Given the description of an element on the screen output the (x, y) to click on. 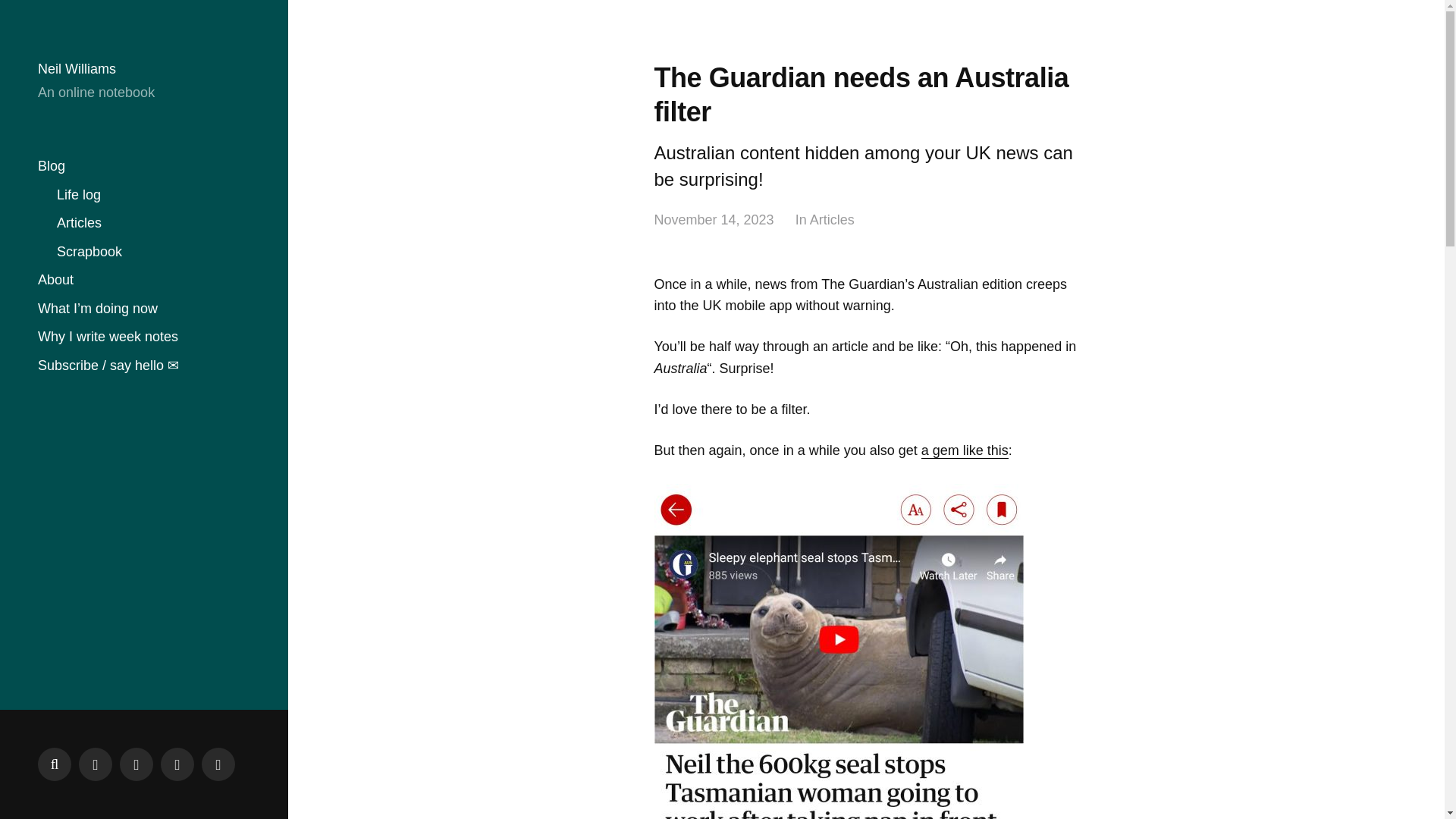
a gem like this (965, 450)
Neil Williams (76, 68)
Articles (78, 222)
Scrapbook (89, 252)
About (55, 279)
Blog (51, 166)
Life log (78, 194)
Articles (831, 220)
Why I write week notes (107, 336)
November 14, 2023 (713, 220)
